Given the description of an element on the screen output the (x, y) to click on. 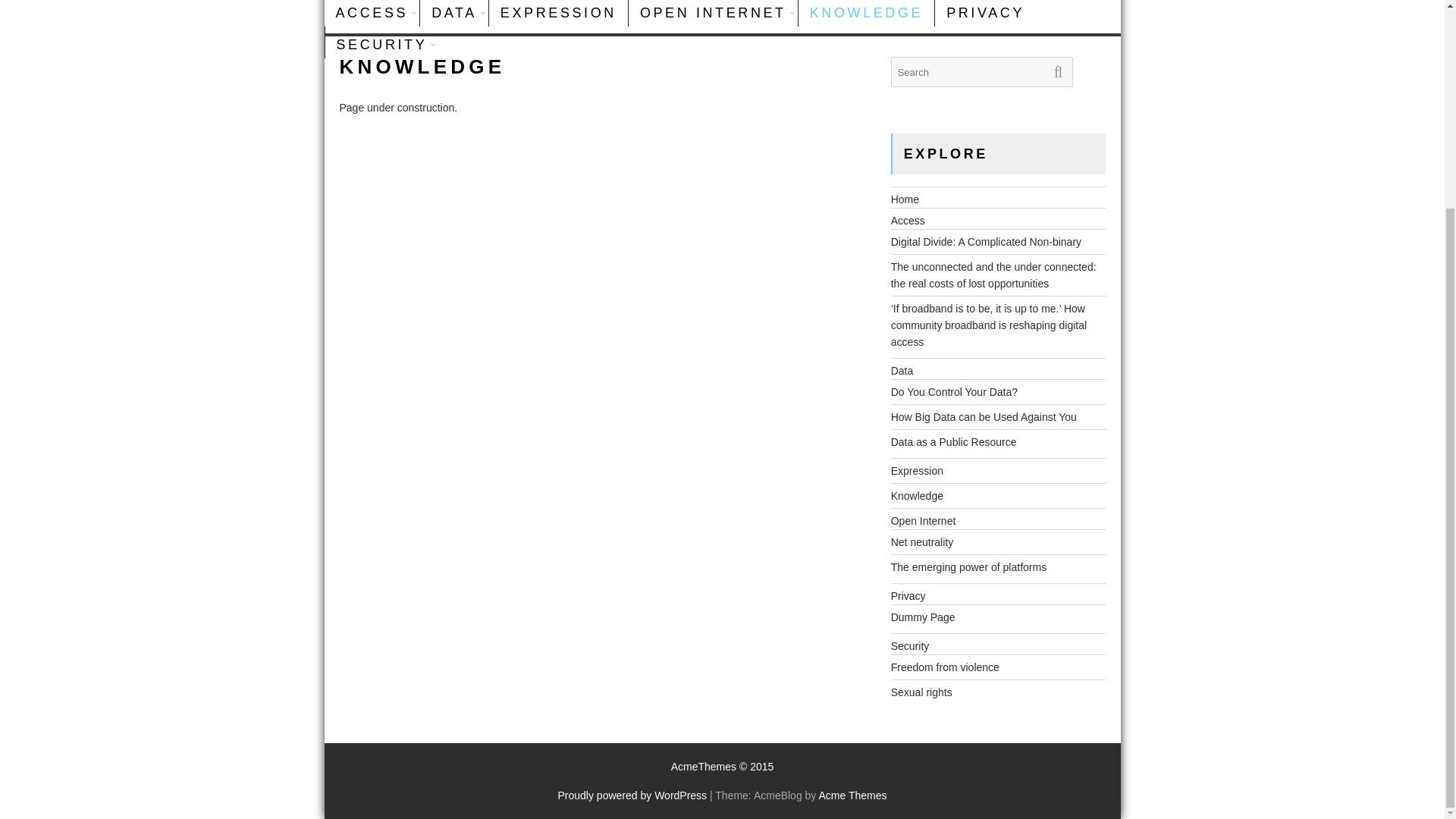
PRIVACY (984, 15)
DATA (453, 15)
OPEN INTERNET (712, 15)
ACCESS (372, 15)
SECURITY (381, 44)
EXPRESSION (558, 15)
KNOWLEDGE (865, 15)
